Given the description of an element on the screen output the (x, y) to click on. 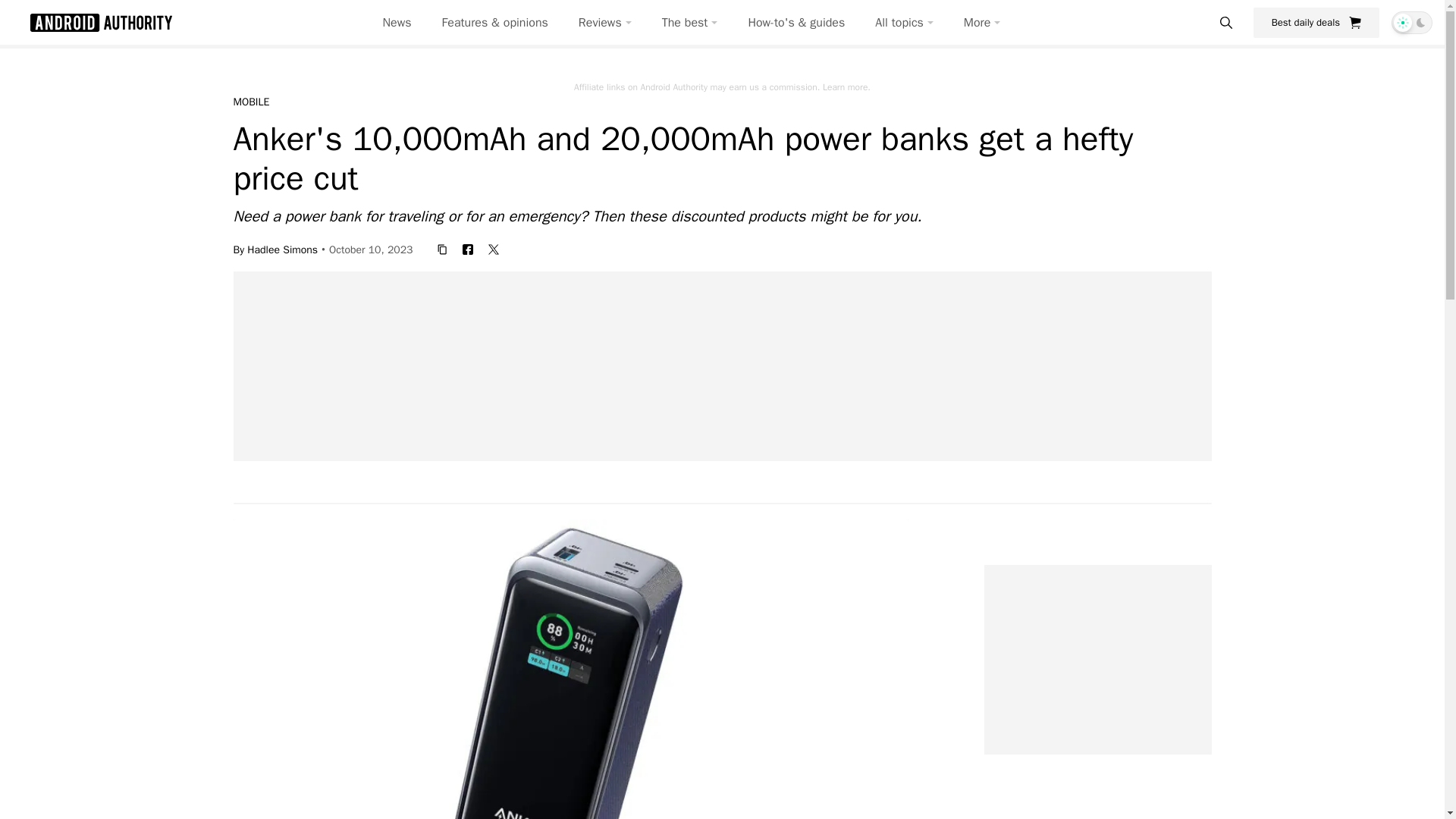
Hadlee Simons (282, 248)
Reviews (604, 22)
Learn more. (846, 86)
MOBILE (250, 101)
facebook (467, 249)
Best daily deals (1315, 22)
The best (689, 22)
All topics (904, 22)
twitter (493, 249)
